Given the description of an element on the screen output the (x, y) to click on. 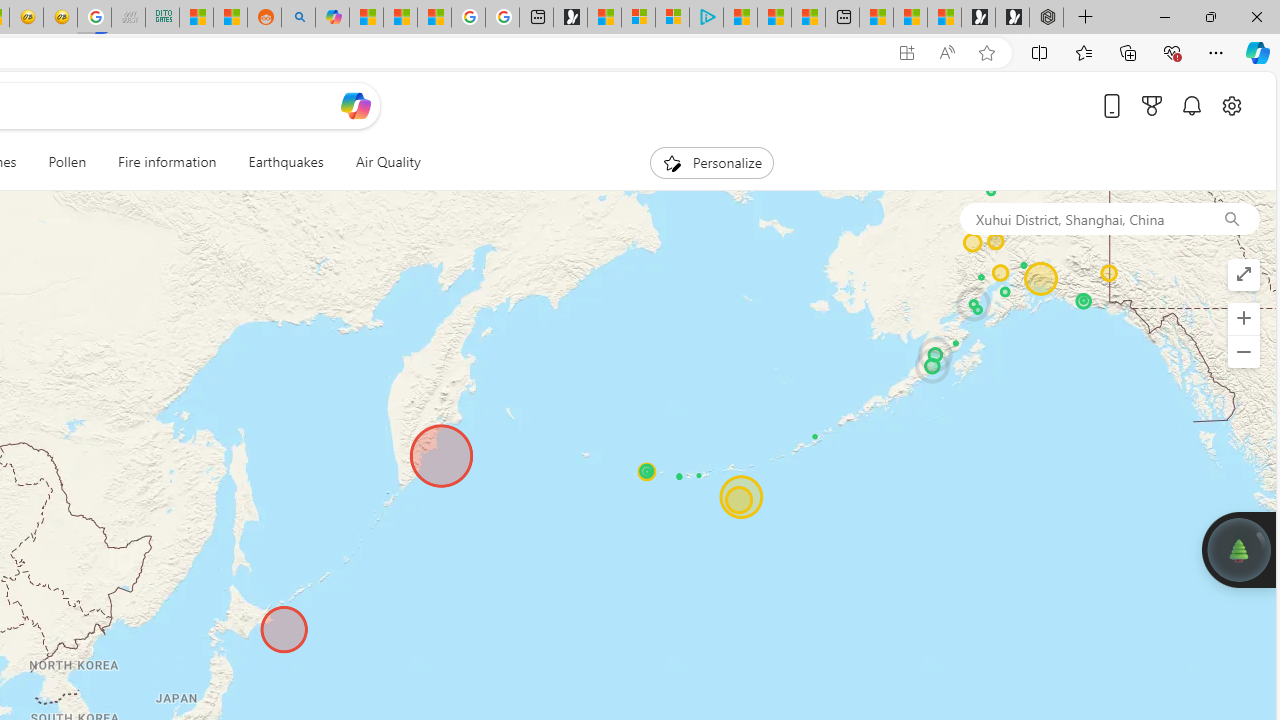
Earthquakes (285, 162)
Favorites (1083, 52)
Settings and more (Alt+F) (1215, 52)
App available. Install Microsoft Start Weather (906, 53)
Air Quality (387, 162)
Microsoft Start (774, 17)
Join us in planting real trees to help our planet! (1239, 549)
Read aloud this page (Ctrl+Shift+U) (946, 53)
Open Copilot (356, 105)
These 3 Stocks Pay You More Than 5% to Own Them (808, 17)
Pollen (67, 162)
Microsoft rewards (1151, 105)
Microsoft account | Privacy (671, 17)
